Given the description of an element on the screen output the (x, y) to click on. 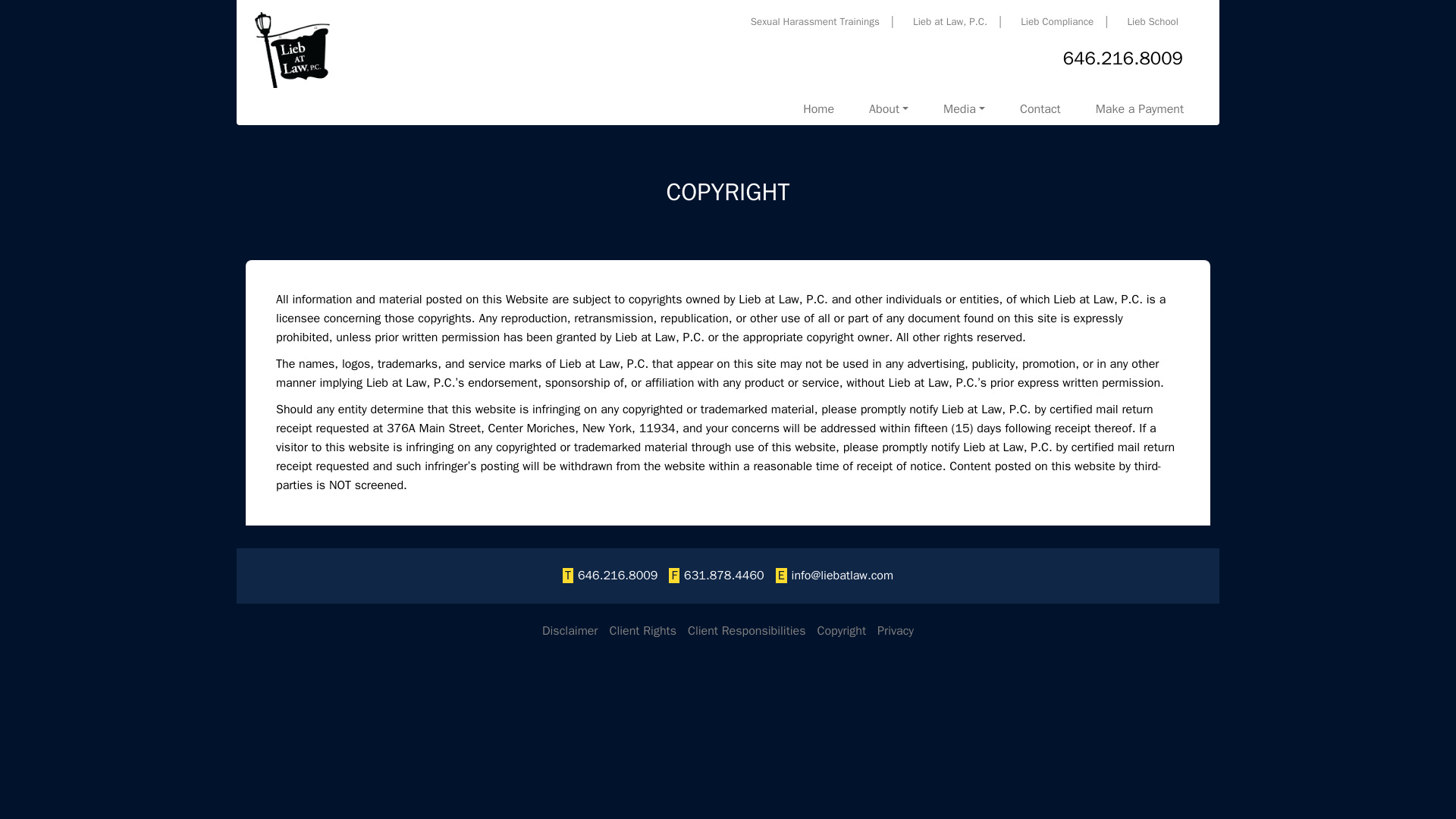
Copyright (841, 630)
Client Rights (642, 630)
Lieb Compliance (993, 109)
Lieb at Law, P.C. (1053, 21)
Contact (946, 21)
Media (1040, 109)
Client Responsibilities (964, 109)
Privacy (746, 630)
646.216.8009 (895, 630)
